Given the description of an element on the screen output the (x, y) to click on. 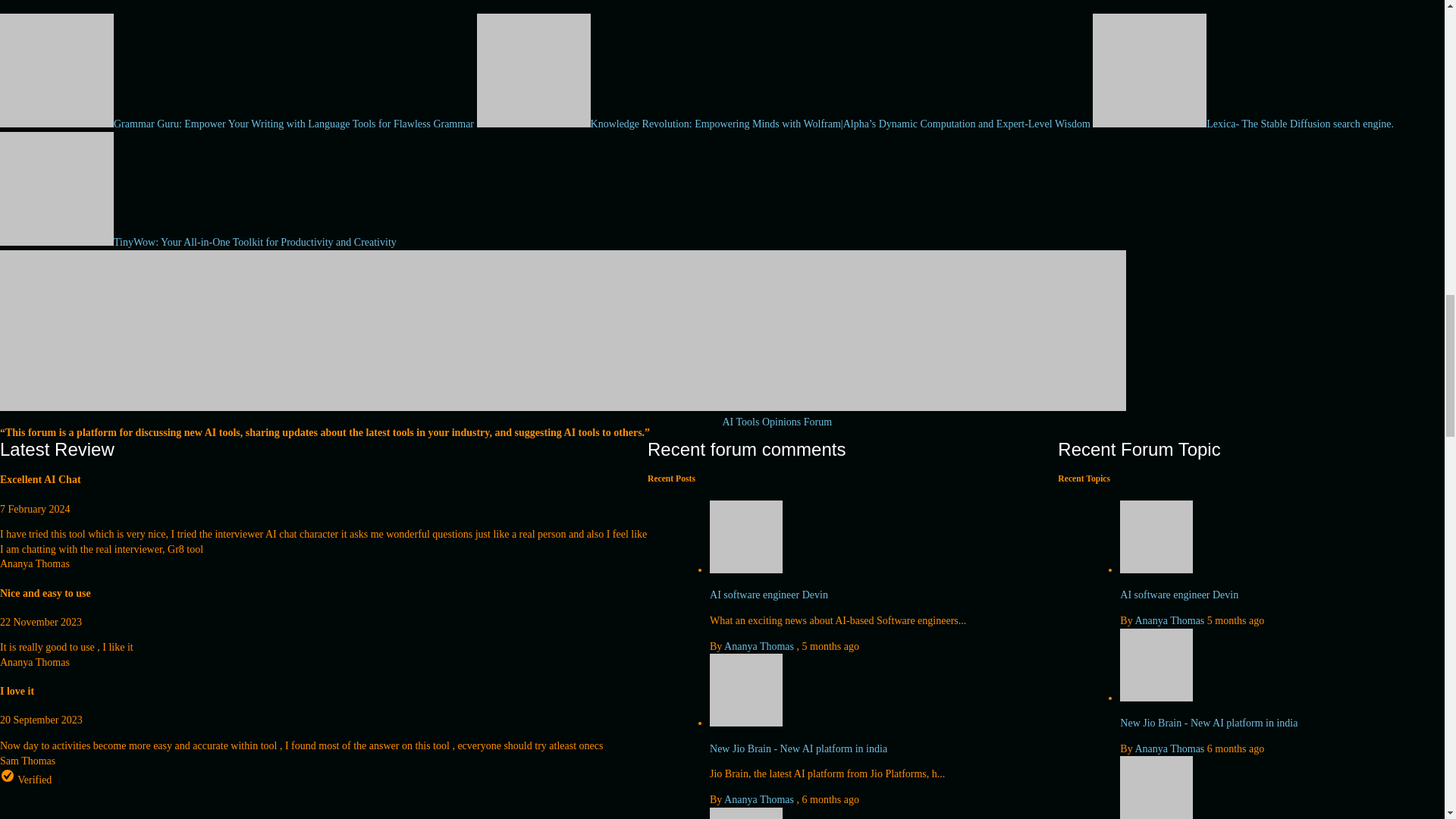
Lexica- The Stable Diffusion search engine. (1243, 123)
